Given the description of an element on the screen output the (x, y) to click on. 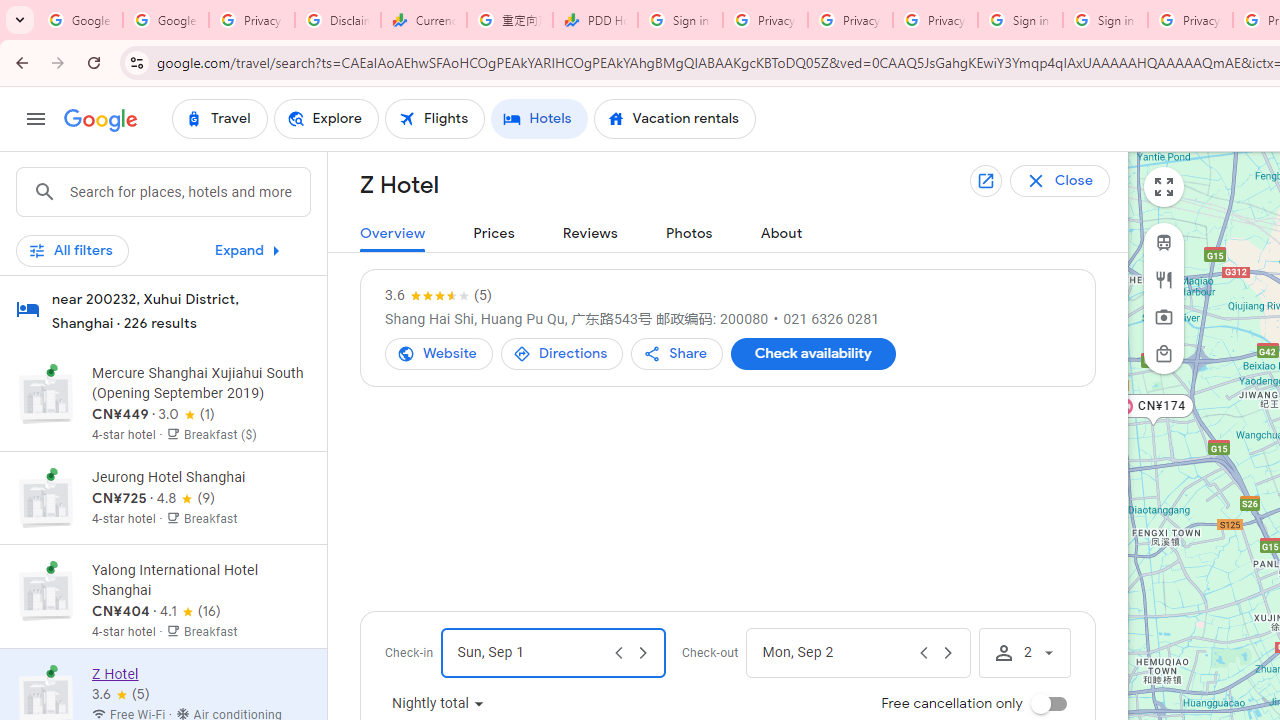
Prices (493, 233)
4.8 out of 5 stars from 9 reviews (185, 498)
Skip to main content (163, 259)
PDD Holdings Inc - ADR (PDD) Price & News - Google Finance (595, 20)
Search for places, hotels and more (189, 191)
Check-in (530, 652)
Transit (1163, 242)
About (781, 233)
Price displayedNightly total (438, 704)
Visit site for Z Hotel (438, 353)
View prices for Jeurong Hotel Shanghai (200, 567)
Open in new tab (985, 180)
